Given the description of an element on the screen output the (x, y) to click on. 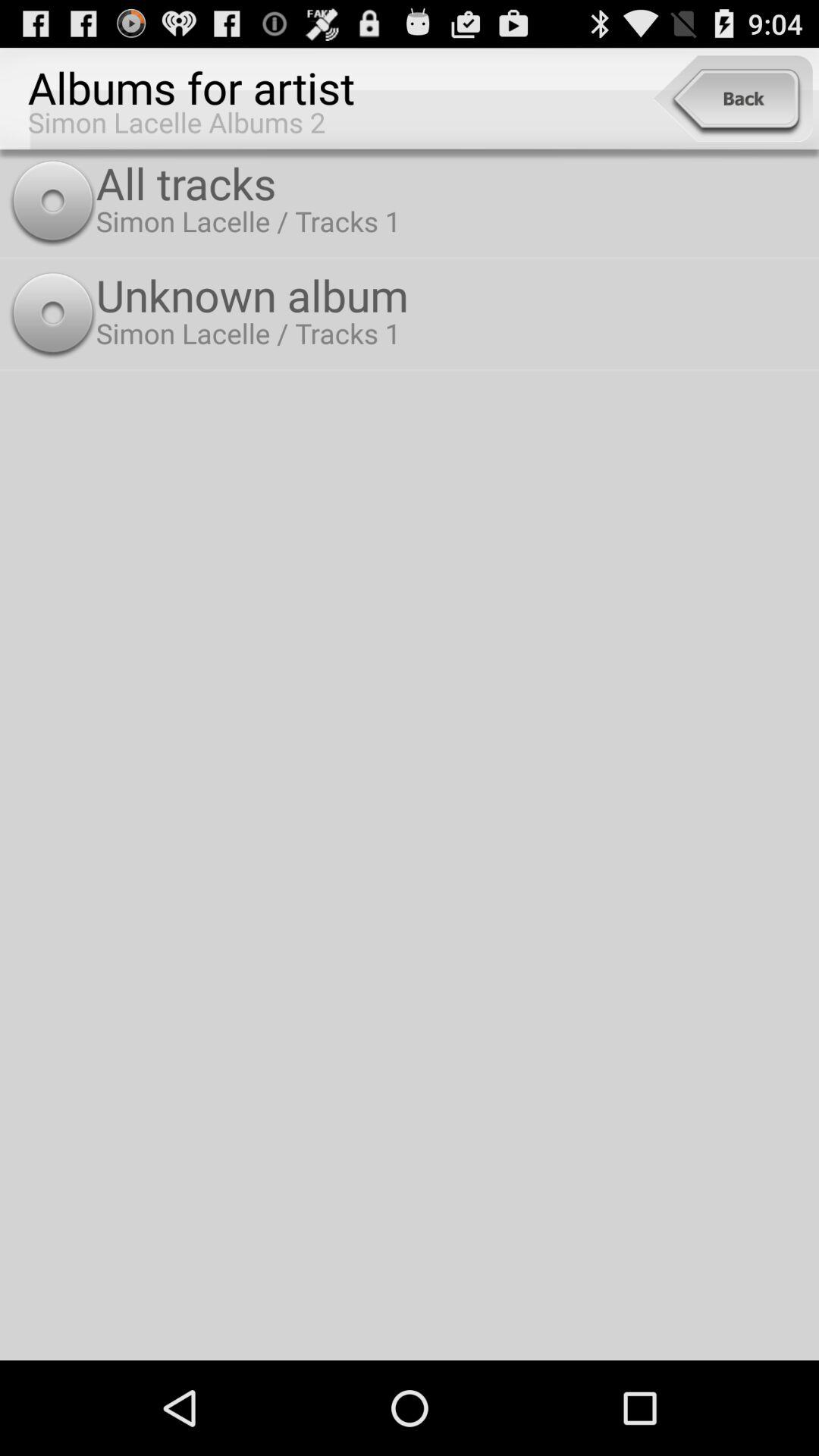
swipe to unknown album icon (454, 294)
